Given the description of an element on the screen output the (x, y) to click on. 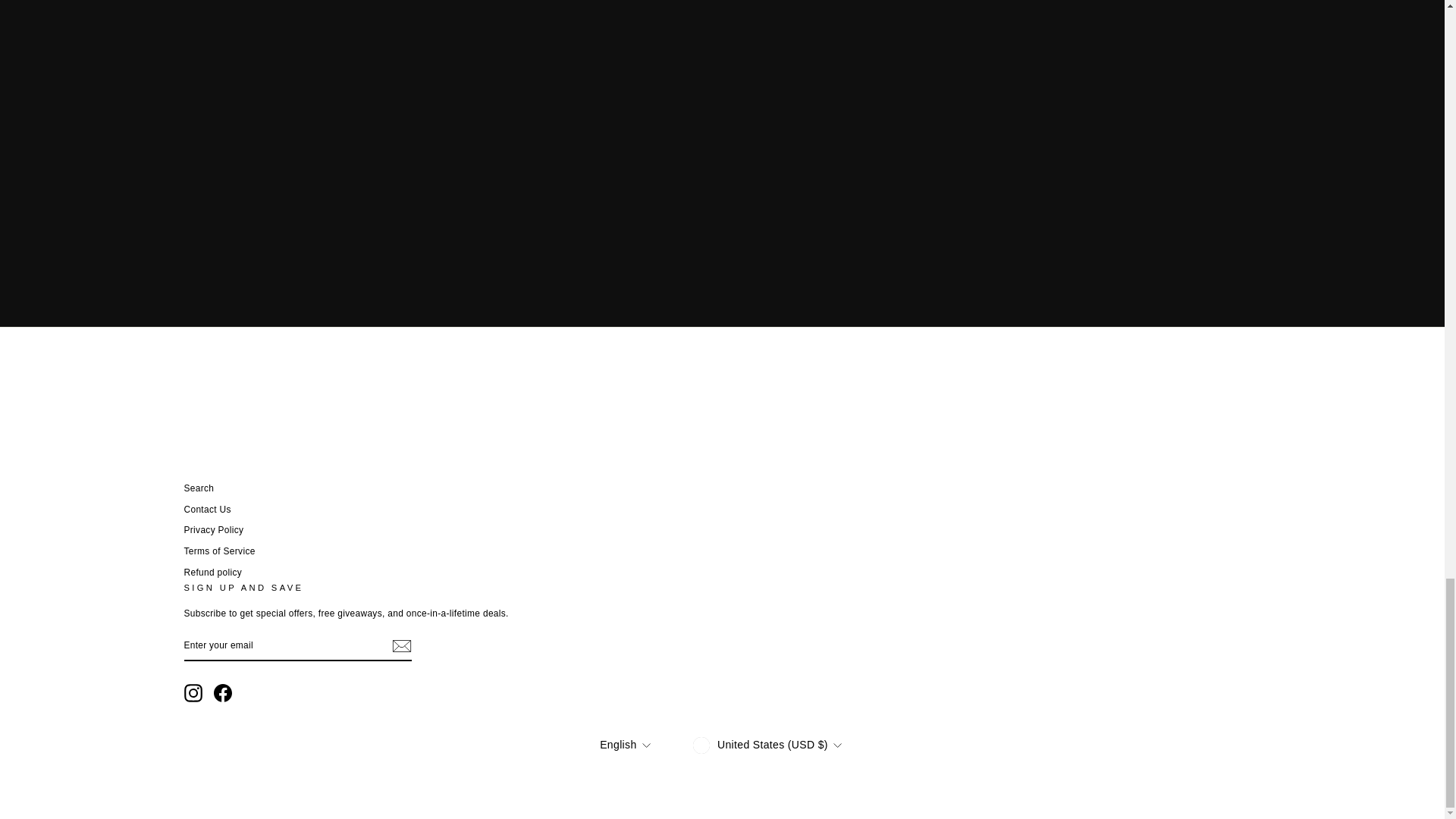
icon-email (400, 646)
Trth Brand on Instagram (192, 692)
instagram (192, 692)
Trth Brand on Facebook (222, 692)
